Given the description of an element on the screen output the (x, y) to click on. 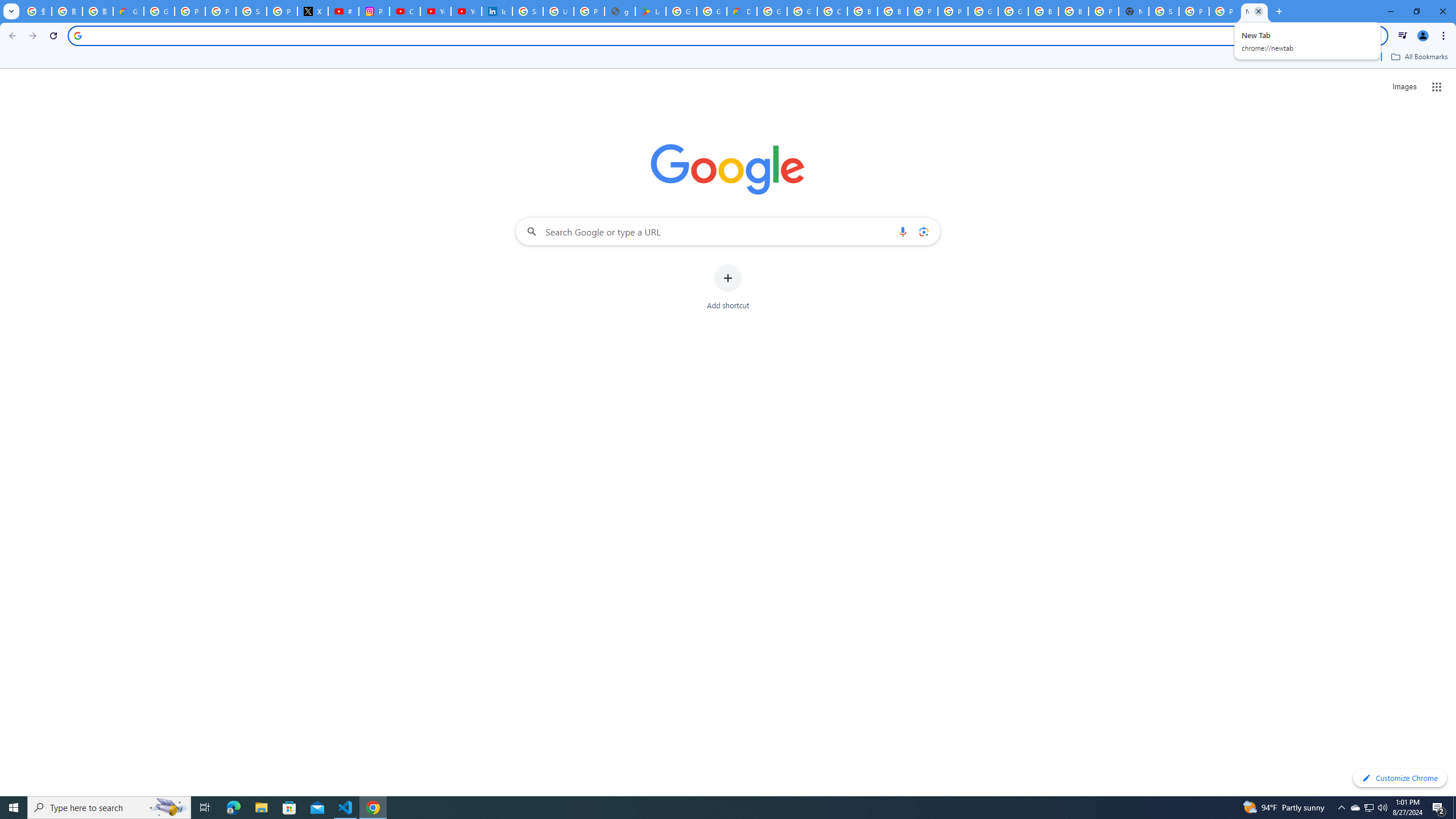
Google Cloud Platform (771, 11)
Google Workspace - Specific Terms (711, 11)
Privacy Help Center - Policies Help (220, 11)
New Tab (1133, 11)
